Given the description of an element on the screen output the (x, y) to click on. 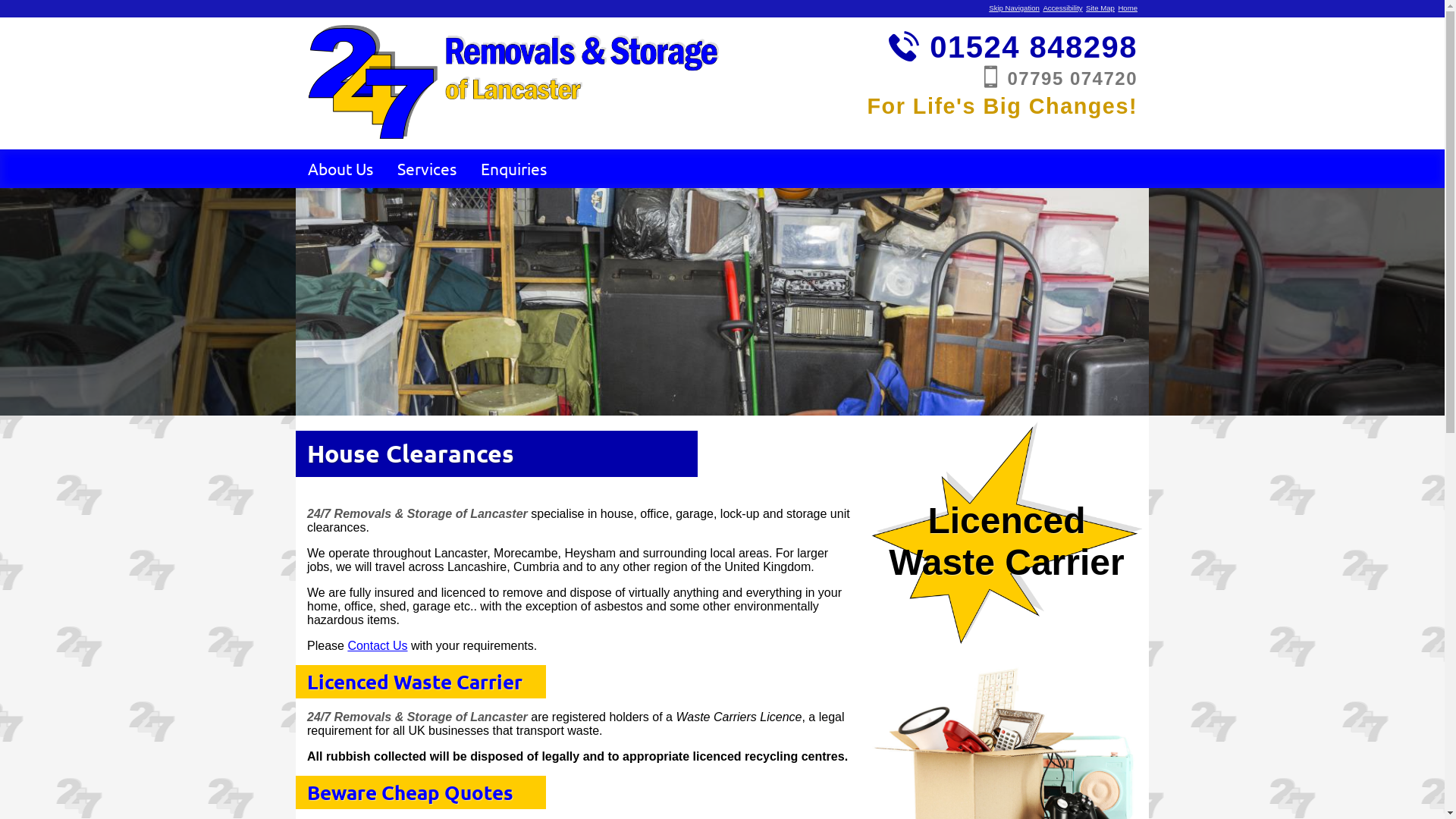
Skip Navigation Element type: text (1013, 7)
Accessibility Element type: text (1062, 7)
Home Element type: text (1127, 7)
01524 848298 Element type: text (1012, 53)
Enquiries Element type: text (513, 168)
07795 074720 Element type: text (1058, 80)
Services Element type: text (426, 168)
About Us Element type: text (340, 168)
Contact Us Element type: text (377, 645)
24/7 Removals & Storage of Lancaster Element type: hover (514, 81)
Licenced Waste Carrier Element type: text (1005, 541)
Site Map Element type: text (1099, 7)
